Given the description of an element on the screen output the (x, y) to click on. 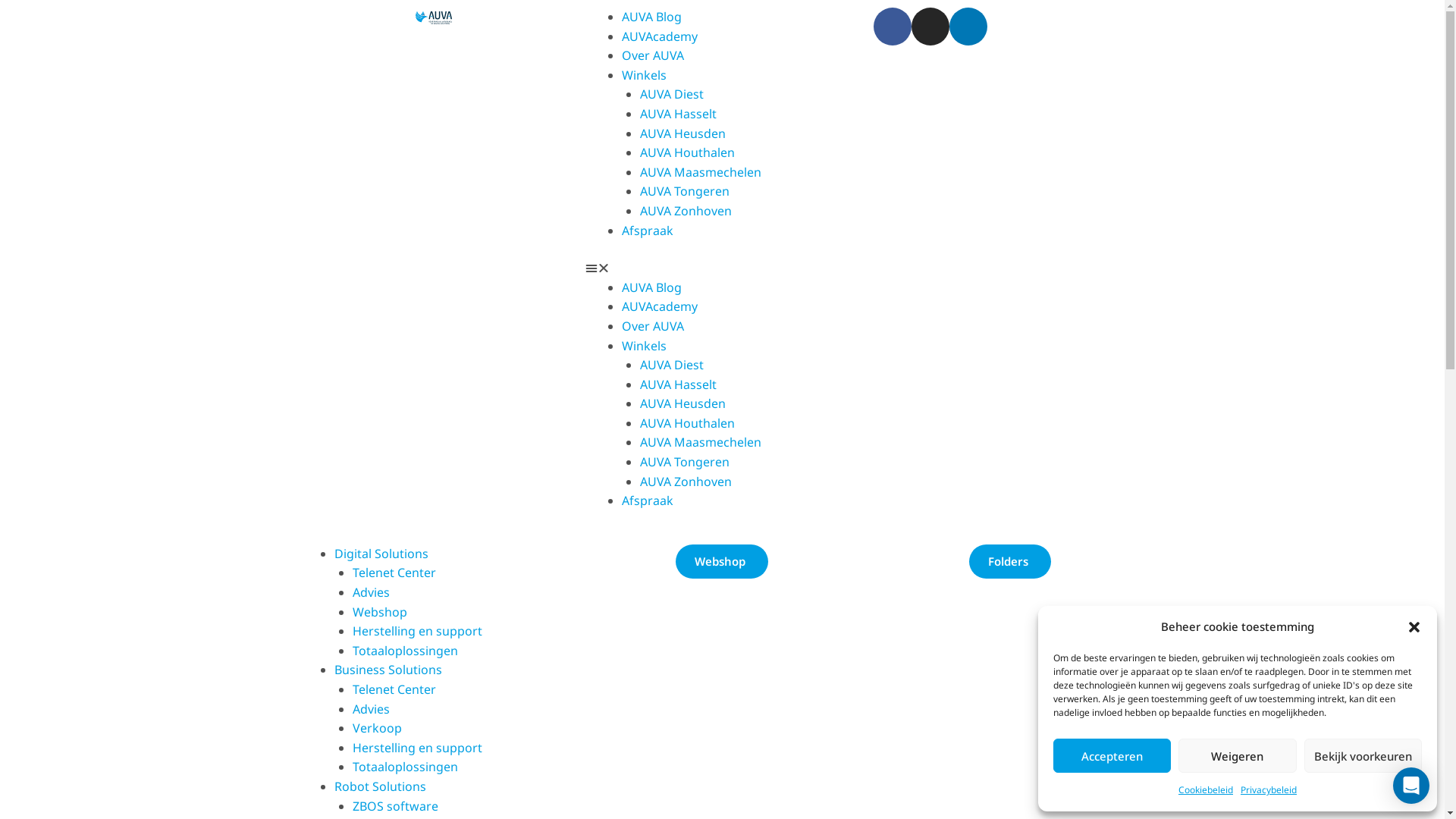
Webshop Element type: text (378, 611)
Instagram Element type: text (930, 26)
AUVA Heusden Element type: text (682, 133)
AUVA Hasselt Element type: text (678, 113)
AUVA Maasmechelen Element type: text (700, 441)
Robot Solutions Element type: text (379, 786)
AUVAcademy Element type: text (659, 306)
AUVA Zonhoven Element type: text (685, 210)
Accepteren Element type: text (1111, 755)
Webshop Element type: text (721, 561)
AUVA Maasmechelen Element type: text (700, 171)
AUVA Houthalen Element type: text (687, 422)
Totaaloplossingen Element type: text (404, 766)
AUVA Tongeren Element type: text (684, 190)
Over AUVA Element type: text (652, 55)
Cookiebeleid Element type: text (1205, 790)
AUVA Blog Element type: text (651, 287)
Afspraak Element type: text (647, 230)
Afspraak Element type: text (647, 500)
AUVA Diest Element type: text (671, 93)
Verkoop Element type: text (376, 727)
Digital Solutions Element type: text (380, 553)
Privacybeleid Element type: text (1268, 790)
AUVA Diest Element type: text (671, 364)
Linkedin-in Element type: text (968, 26)
AUVAcademy Element type: text (659, 36)
Winkels Element type: text (643, 74)
AUVA Houthalen Element type: text (687, 152)
Over AUVA Element type: text (652, 325)
Bekijk voorkeuren Element type: text (1362, 755)
Telenet Center Element type: text (393, 688)
Advies Element type: text (370, 591)
AUVA Zonhoven Element type: text (685, 481)
Folders Element type: text (1010, 561)
ZBOS software Element type: text (394, 805)
AUVA Hasselt Element type: text (678, 384)
Telenet Center Element type: text (393, 572)
Business Solutions Element type: text (387, 669)
Totaaloplossingen Element type: text (404, 650)
Winkels Element type: text (643, 344)
Herstelling en support Element type: text (416, 630)
AUVA Heusden Element type: text (682, 403)
Facebook-f Element type: text (892, 26)
Herstelling en support Element type: text (416, 747)
AUVA Tongeren Element type: text (684, 461)
Advies Element type: text (370, 708)
AUVA Blog Element type: text (651, 16)
Weigeren Element type: text (1236, 755)
